Given the description of an element on the screen output the (x, y) to click on. 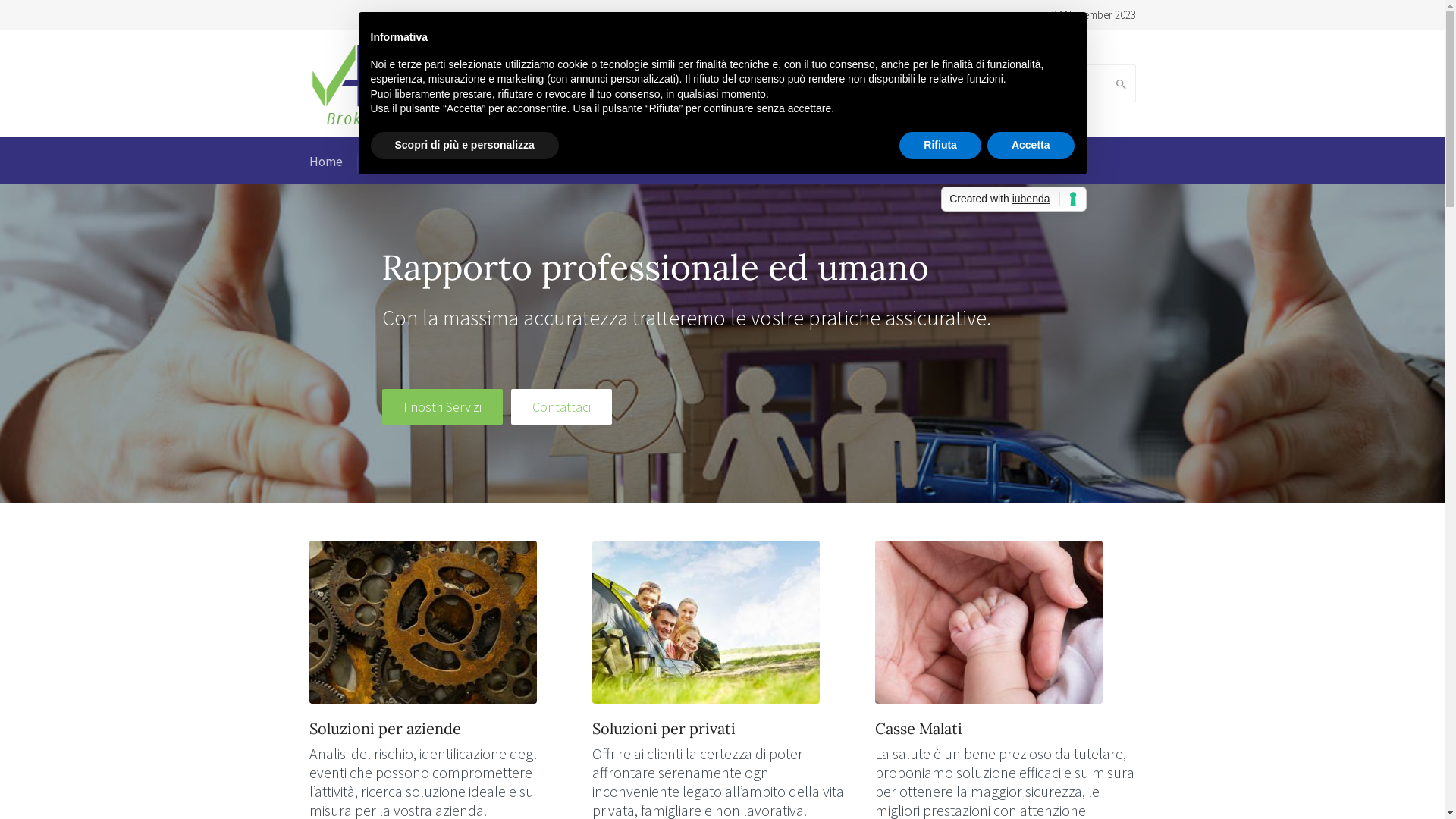
News Element type: text (783, 161)
Chi siamo Element type: text (399, 161)
Search Element type: text (1117, 84)
Home Element type: text (325, 161)
Video Element type: text (847, 161)
Accetta Element type: text (1030, 145)
Contatto Element type: text (920, 161)
info@abcbrokers.ch Element type: text (749, 91)
Rifiuta Element type: text (940, 145)
Cassa malati Element type: text (598, 161)
Created with iubenda Element type: text (1013, 199)
ABCyber Risk Element type: text (701, 161)
I nostri servizi Element type: text (495, 161)
